Given the description of an element on the screen output the (x, y) to click on. 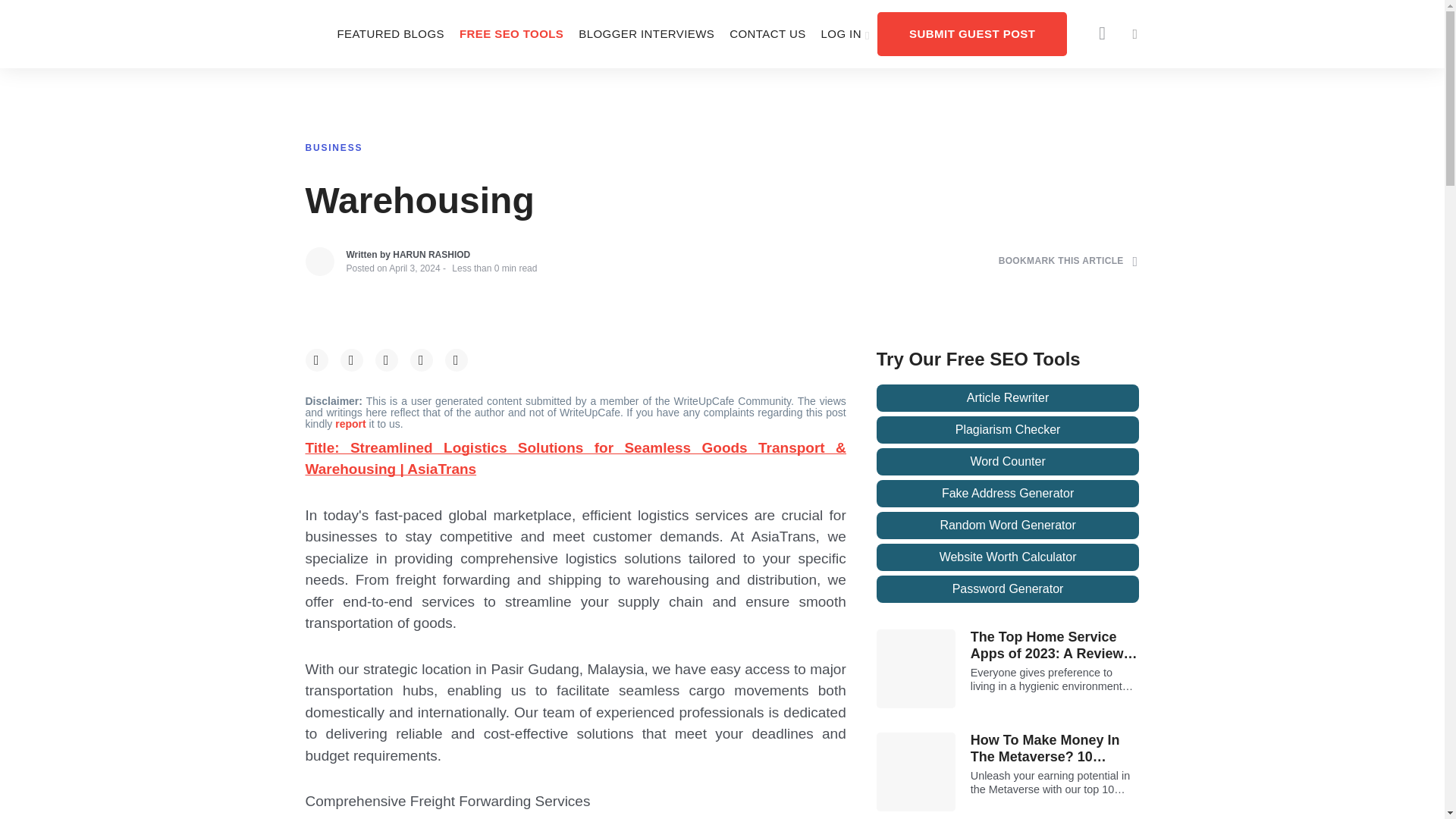
April 3, 2024 (413, 267)
Fake Address Generator (1008, 492)
Plagiarism Checker (1008, 429)
FREE SEO TOOLS (510, 33)
The Top Home Service Apps of 2023: A Review and Comparison (1055, 645)
FEATURED BLOGS (390, 33)
Article Rewriter (1008, 397)
CONTACT US (767, 33)
CONTACT US (767, 33)
Website Worth Calculator (1008, 556)
Random Word Generator (1008, 524)
LOG IN (845, 33)
HARUN RASHIOD (431, 254)
